Given the description of an element on the screen output the (x, y) to click on. 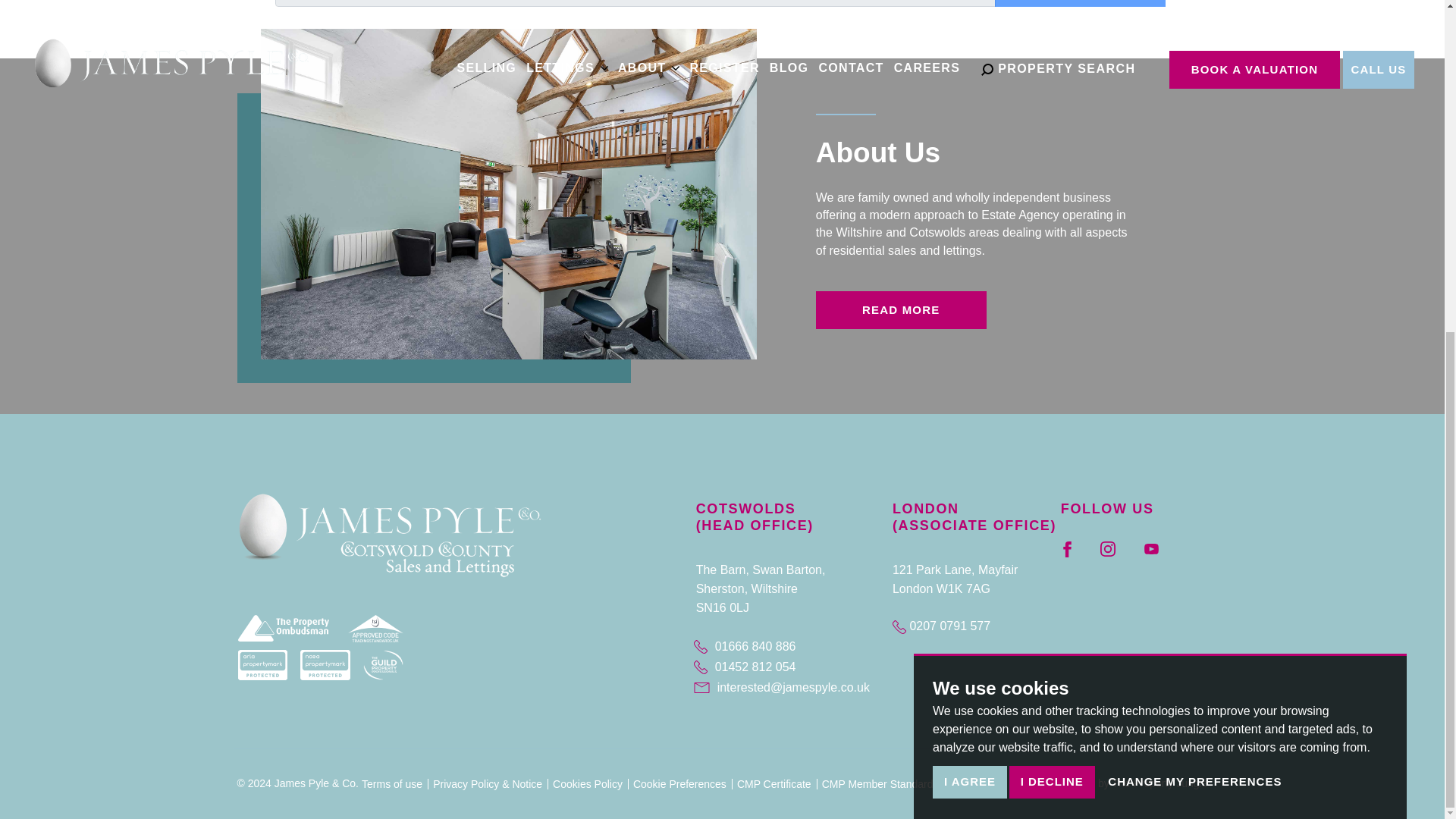
READ MORE (901, 310)
01452 812 054 (789, 667)
0207 0791 577 (941, 625)
I AGREE (970, 391)
CHANGE MY PREFERENCES (1194, 384)
SEARCH (1080, 3)
I DECLINE (1051, 389)
01666 840 886 (789, 647)
